Given the description of an element on the screen output the (x, y) to click on. 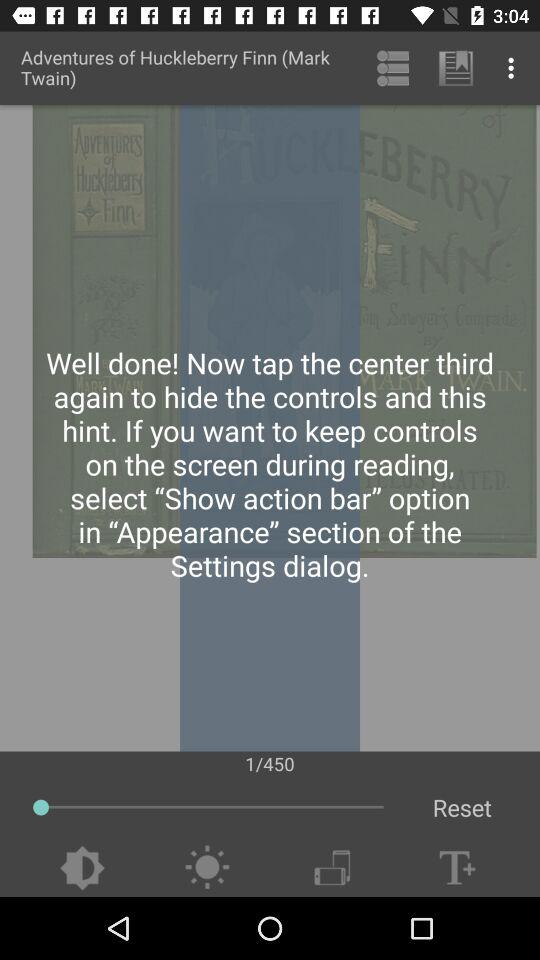
change view to landscape (331, 867)
